Given the description of an element on the screen output the (x, y) to click on. 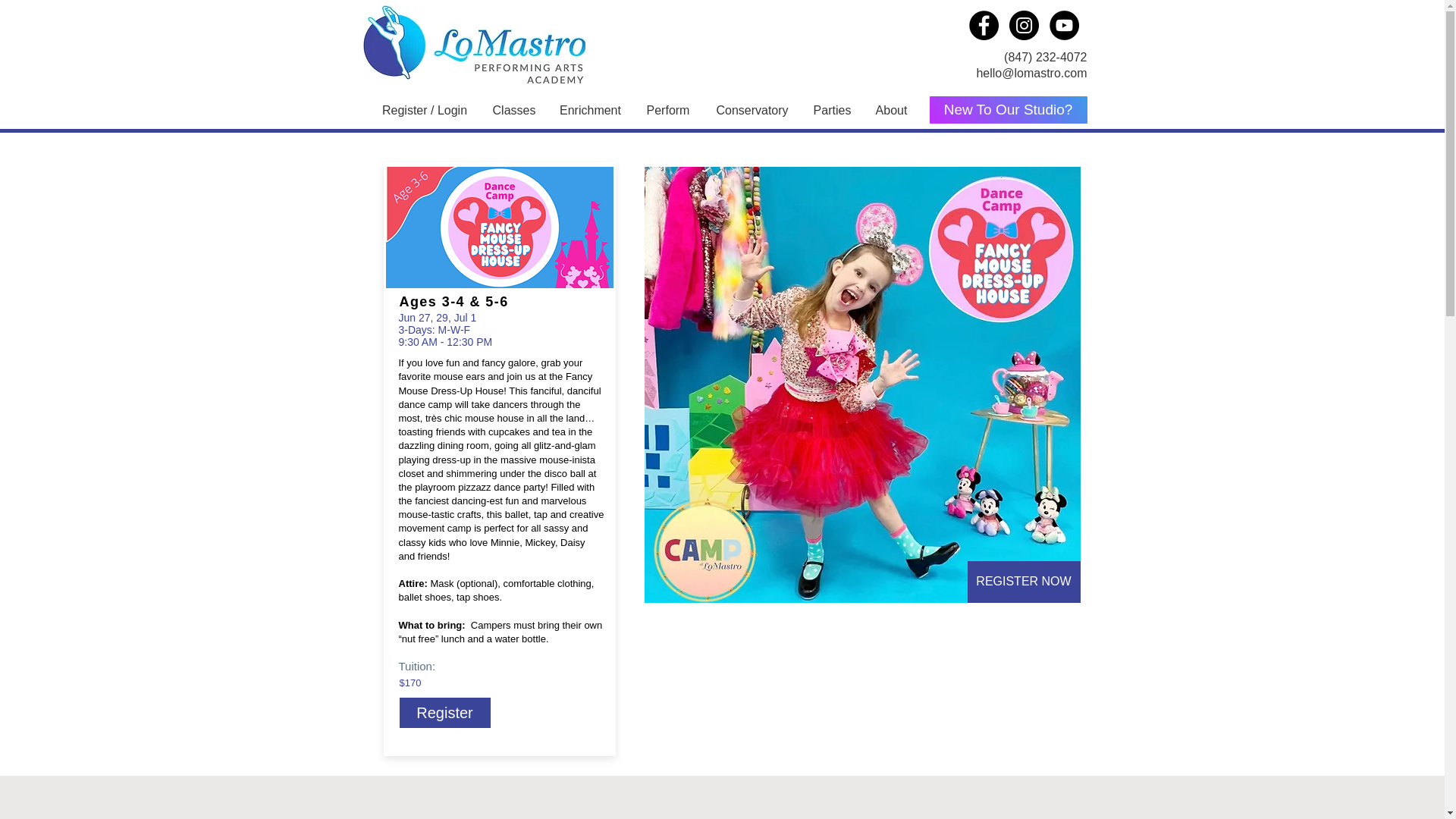
Enrichment (590, 110)
Conservatory (751, 110)
Parties (832, 110)
Classes (513, 110)
About (891, 110)
